Given the description of an element on the screen output the (x, y) to click on. 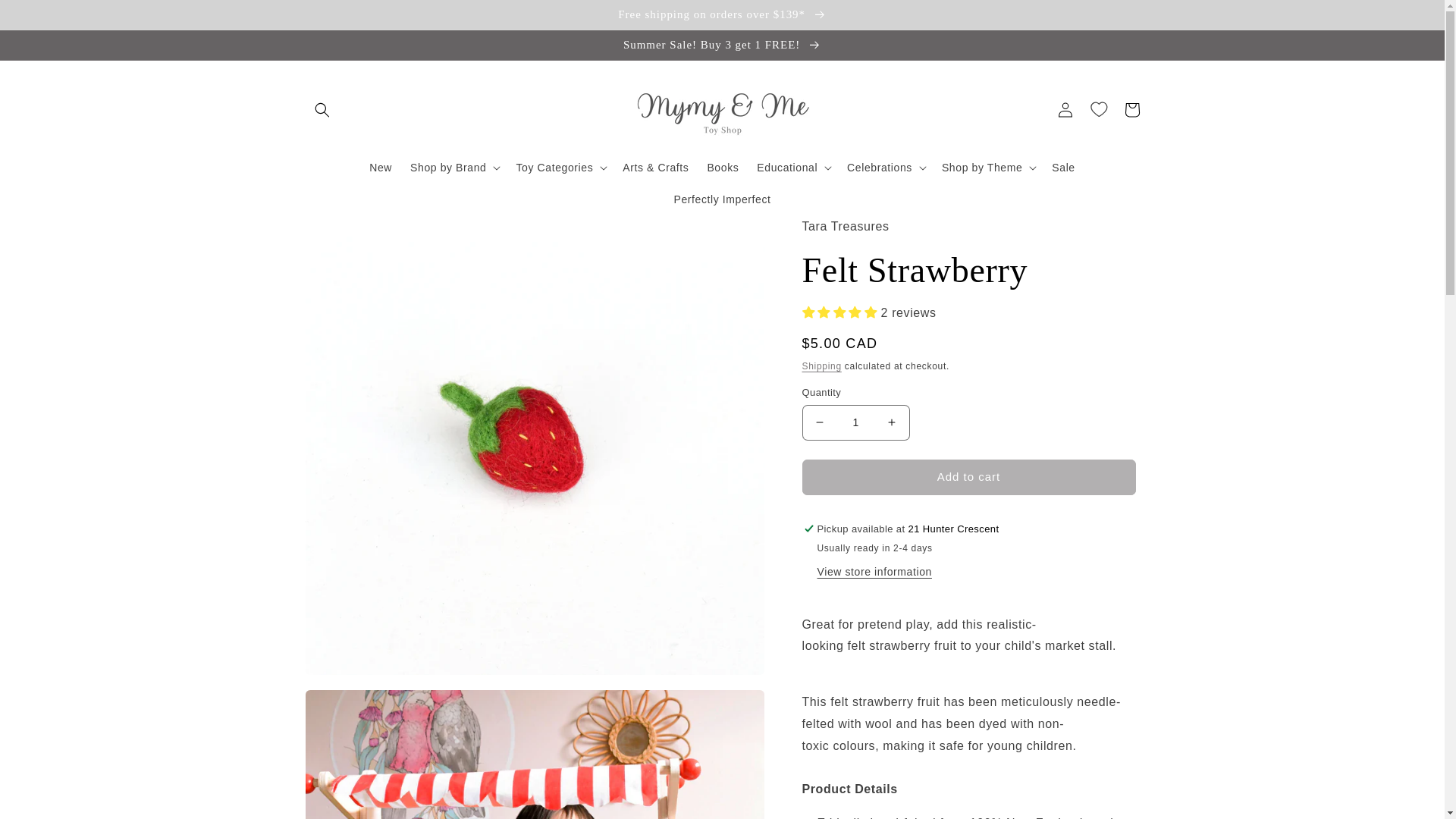
1 (856, 422)
Skip to content (45, 17)
